Given the description of an element on the screen output the (x, y) to click on. 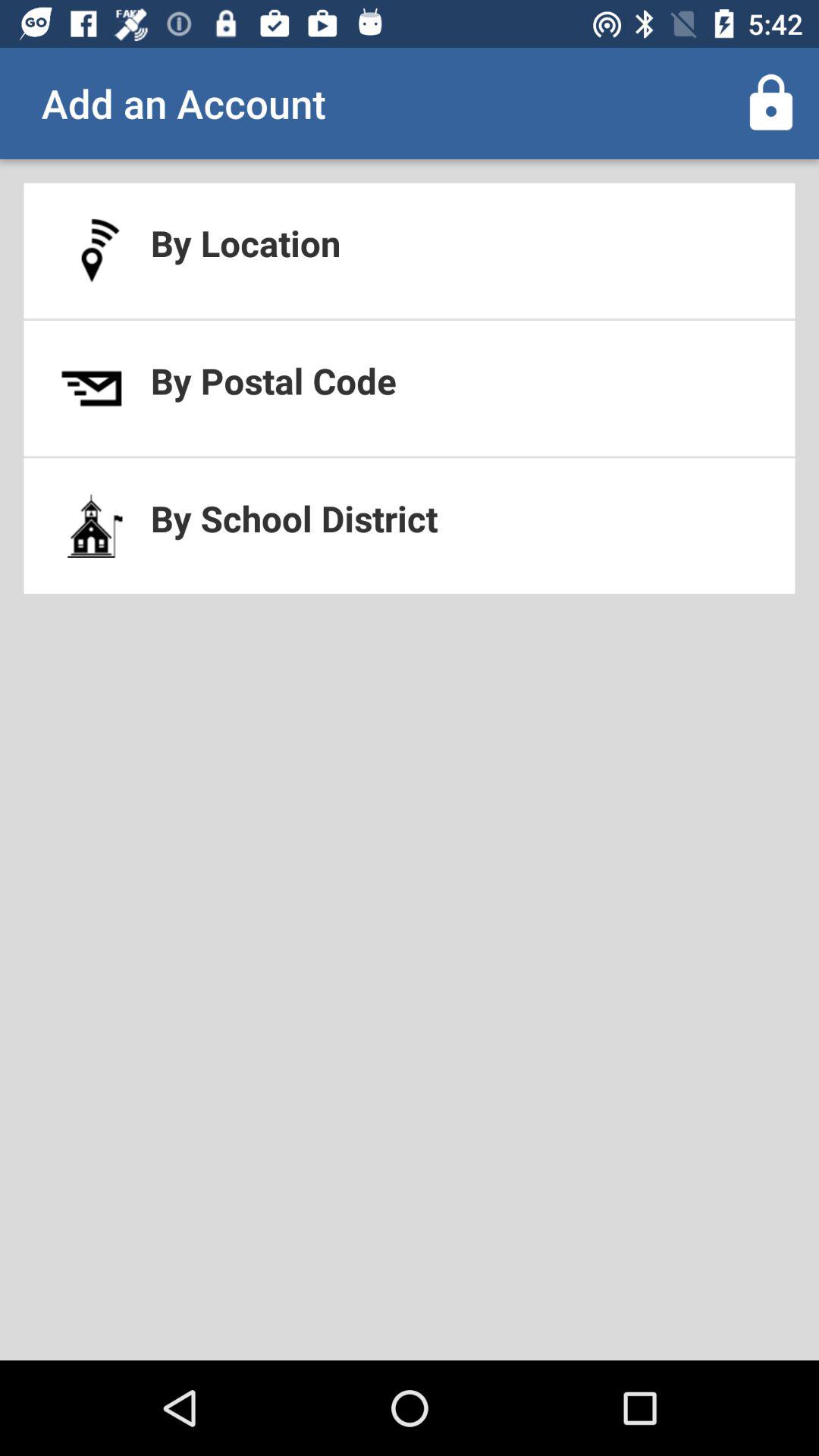
select the icon below    by location (409, 388)
